Given the description of an element on the screen output the (x, y) to click on. 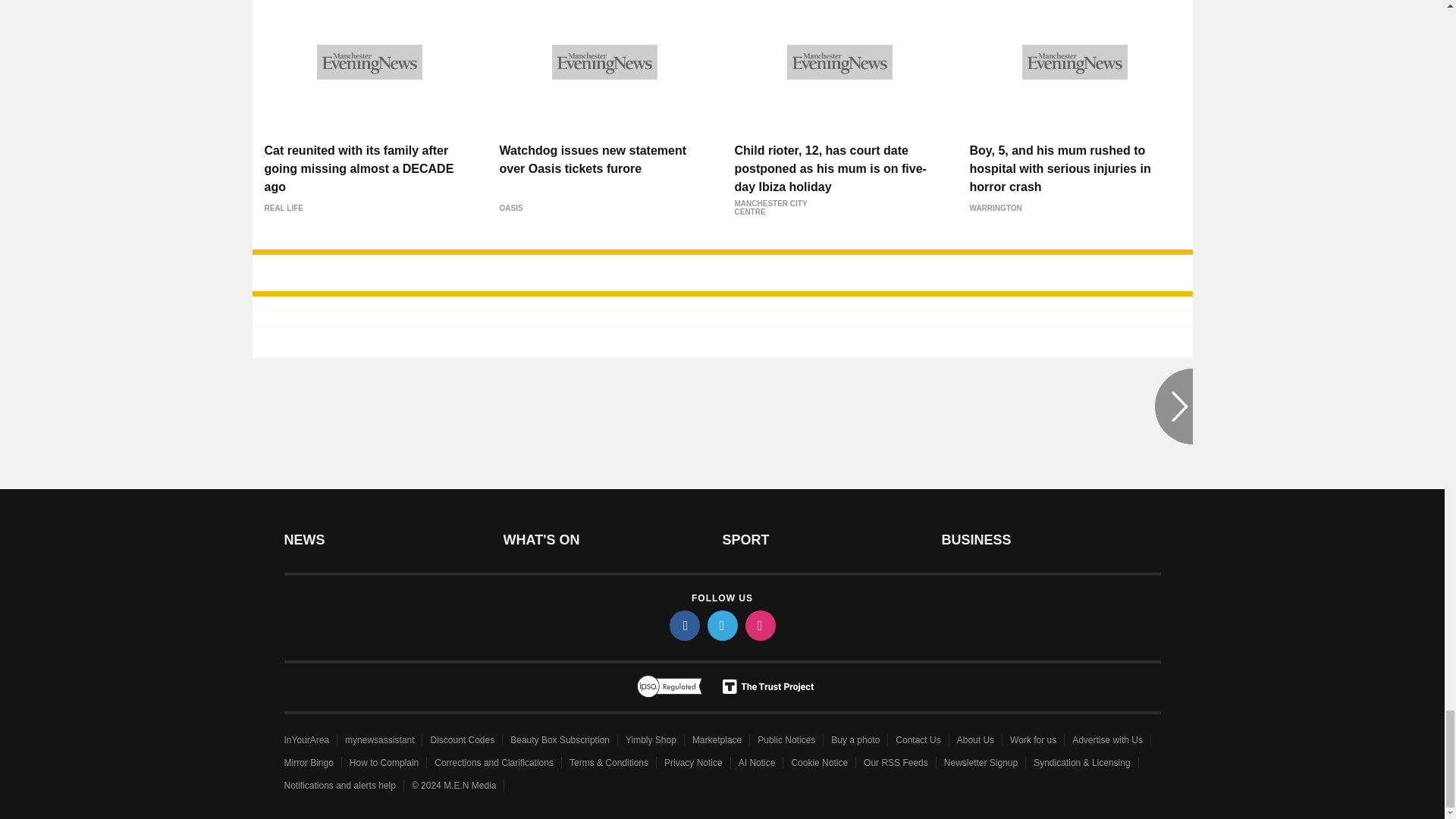
facebook (683, 625)
instagram (759, 625)
twitter (721, 625)
